Given the description of an element on the screen output the (x, y) to click on. 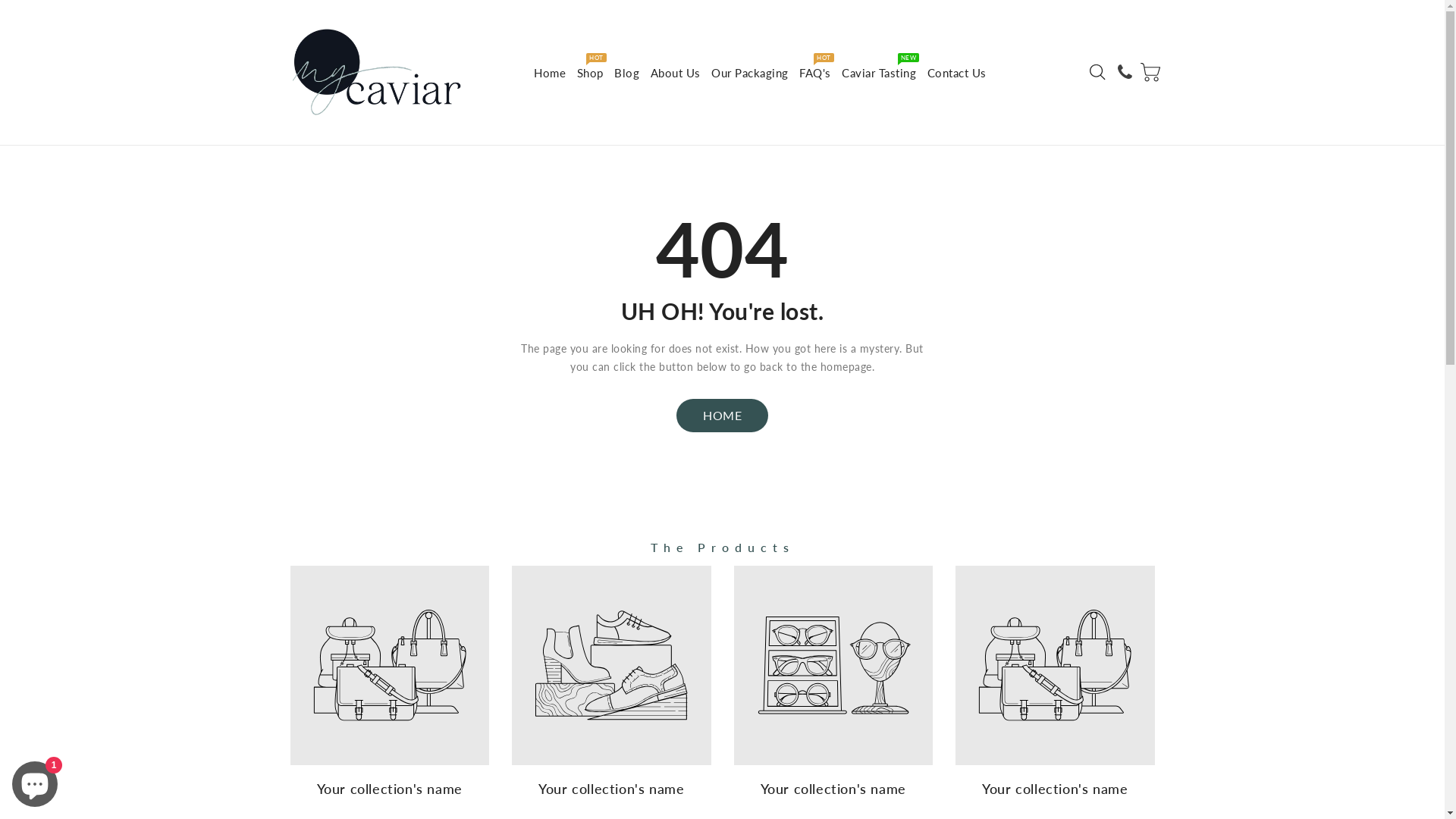
Shopify online store chat Element type: hover (34, 780)
FAQ's
HOT Element type: text (814, 72)
HOME Element type: text (722, 415)
Blog Element type: text (626, 72)
Contact Us Element type: text (956, 72)
Shop
HOT Element type: text (590, 72)
Your collection's name Element type: text (1054, 685)
Our Packaging Element type: text (749, 72)
Your collection's name Element type: text (833, 685)
Your collection's name Element type: text (611, 685)
Home Element type: text (549, 72)
About Us Element type: text (675, 72)
Your collection's name Element type: text (389, 685)
Caviar Tasting
NEW Element type: text (878, 72)
